Given the description of an element on the screen output the (x, y) to click on. 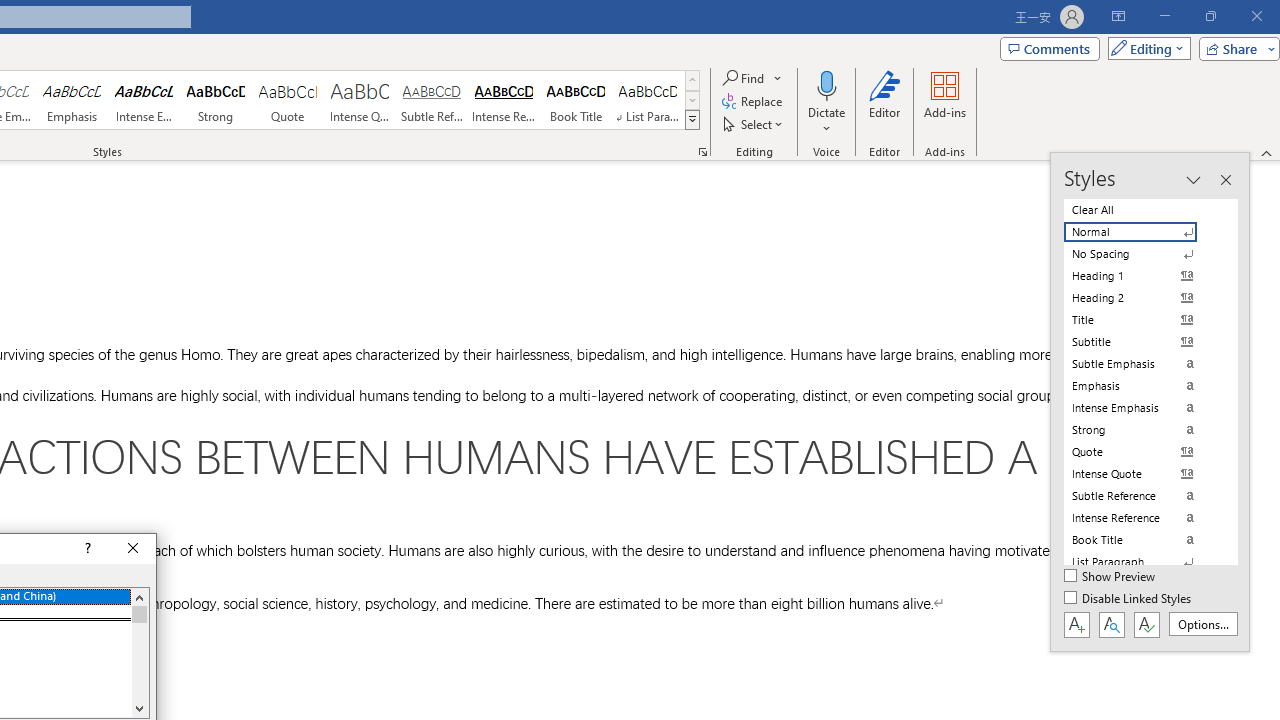
Line down (139, 708)
Context help (86, 548)
No Spacing (1142, 253)
Clear All (1142, 209)
Subtle Emphasis (1142, 363)
List Paragraph (1142, 561)
